Given the description of an element on the screen output the (x, y) to click on. 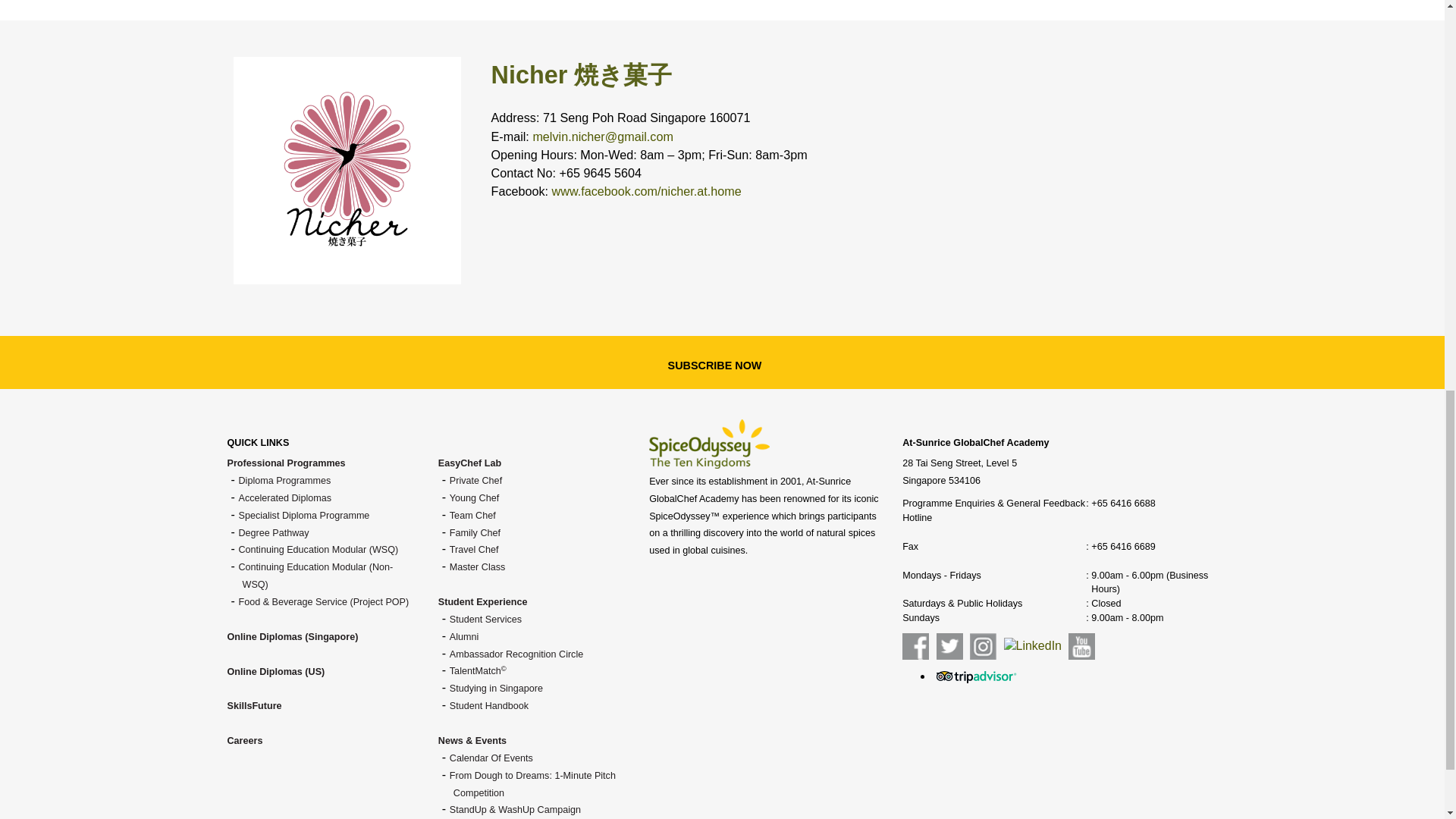
SpiceOdyssey (709, 443)
